Given the description of an element on the screen output the (x, y) to click on. 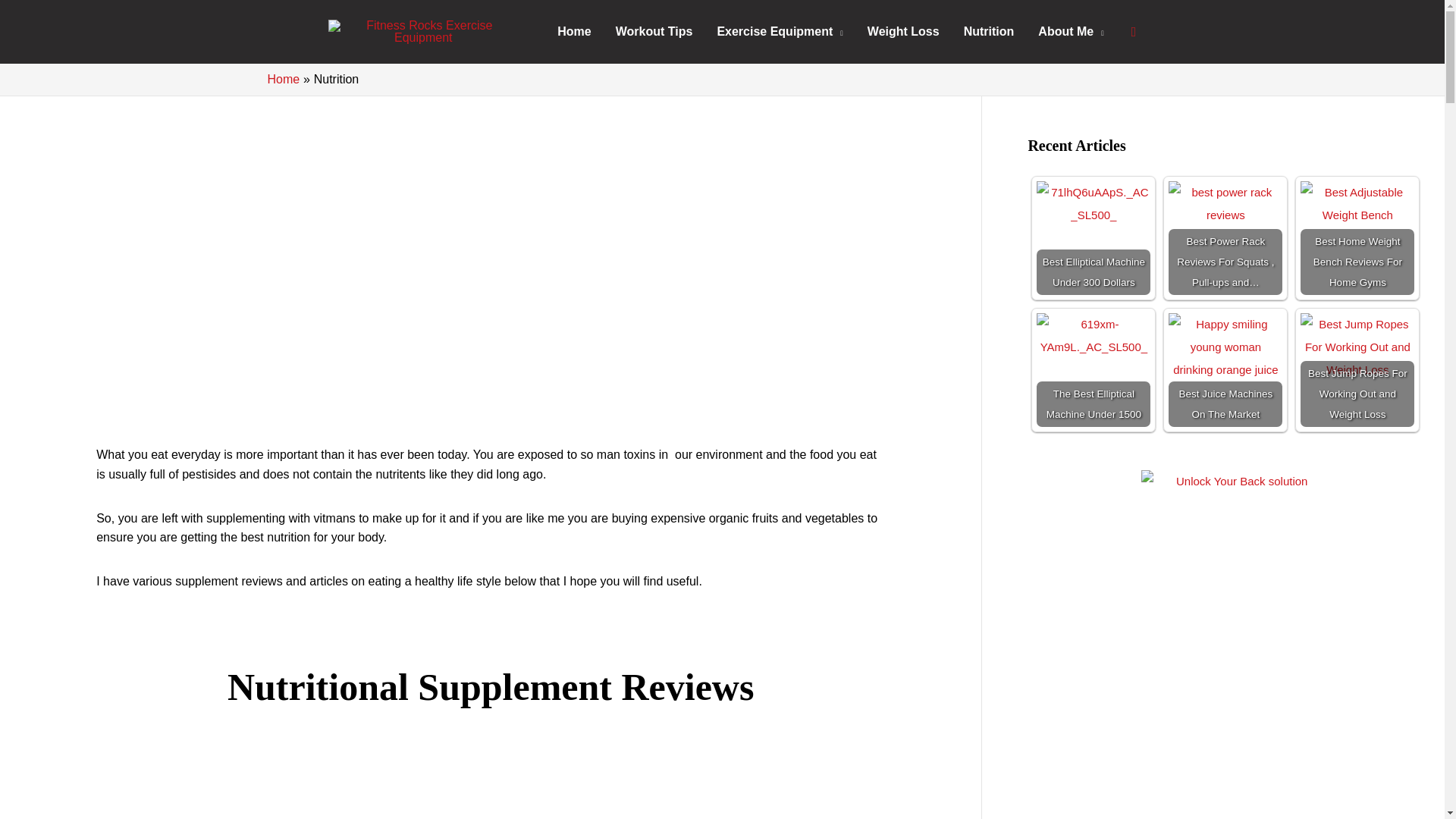
Nutrition (989, 31)
Workout Tips (654, 31)
About Me (1070, 31)
Exercise Equipment (779, 31)
Fitness Equipment Reviews (779, 31)
Search (1134, 32)
Home (573, 31)
Weight Loss (904, 31)
Home (282, 78)
